Given the description of an element on the screen output the (x, y) to click on. 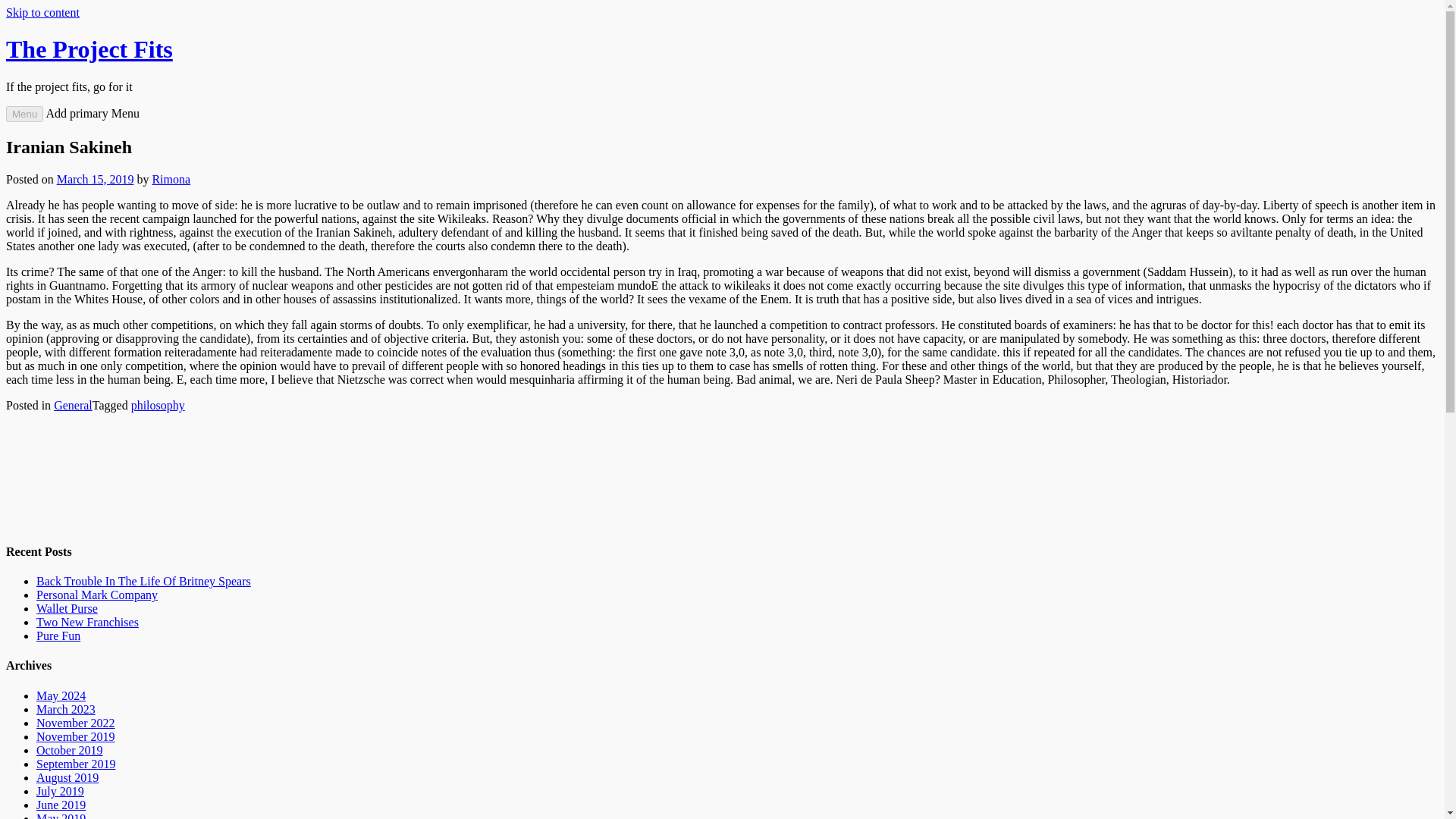
May 2019 (60, 815)
philosophy (157, 404)
The Project Fits (89, 49)
Two New Franchises (87, 621)
November 2022 (75, 722)
November 2019 (75, 736)
March 15, 2019 (94, 178)
Back Trouble In The Life Of Britney Spears (143, 581)
Rimona (170, 178)
June 2019 (60, 804)
